Given the description of an element on the screen output the (x, y) to click on. 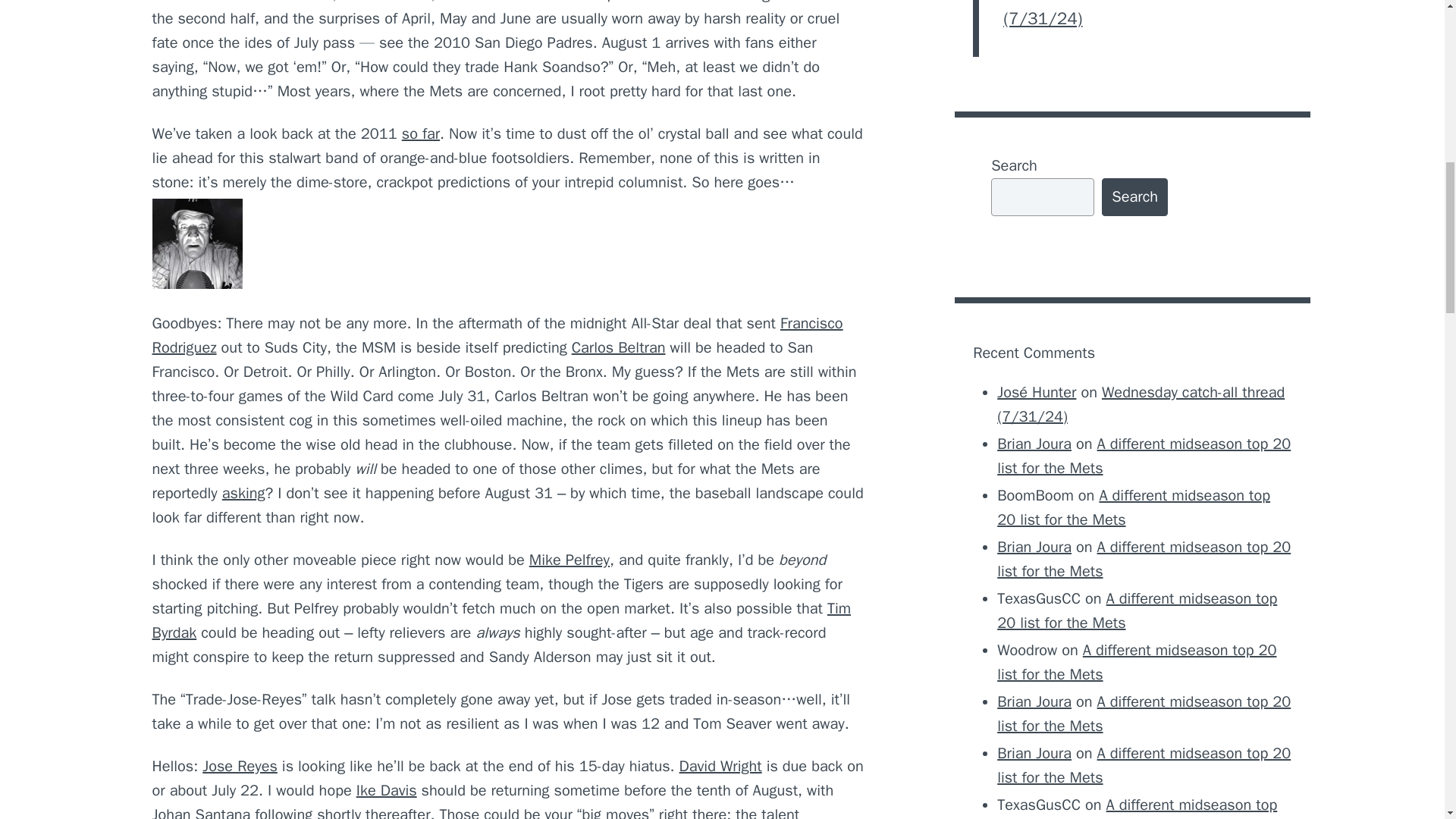
David Wright (720, 765)
Tim Byrdak (500, 620)
Carlos Beltran (618, 347)
asking (243, 493)
Jose Reyes (240, 765)
Mike Pelfrey (569, 559)
Johan Santana (200, 812)
so far (420, 133)
Francisco Rodriguez (497, 335)
Ike Davis (386, 790)
